Given the description of an element on the screen output the (x, y) to click on. 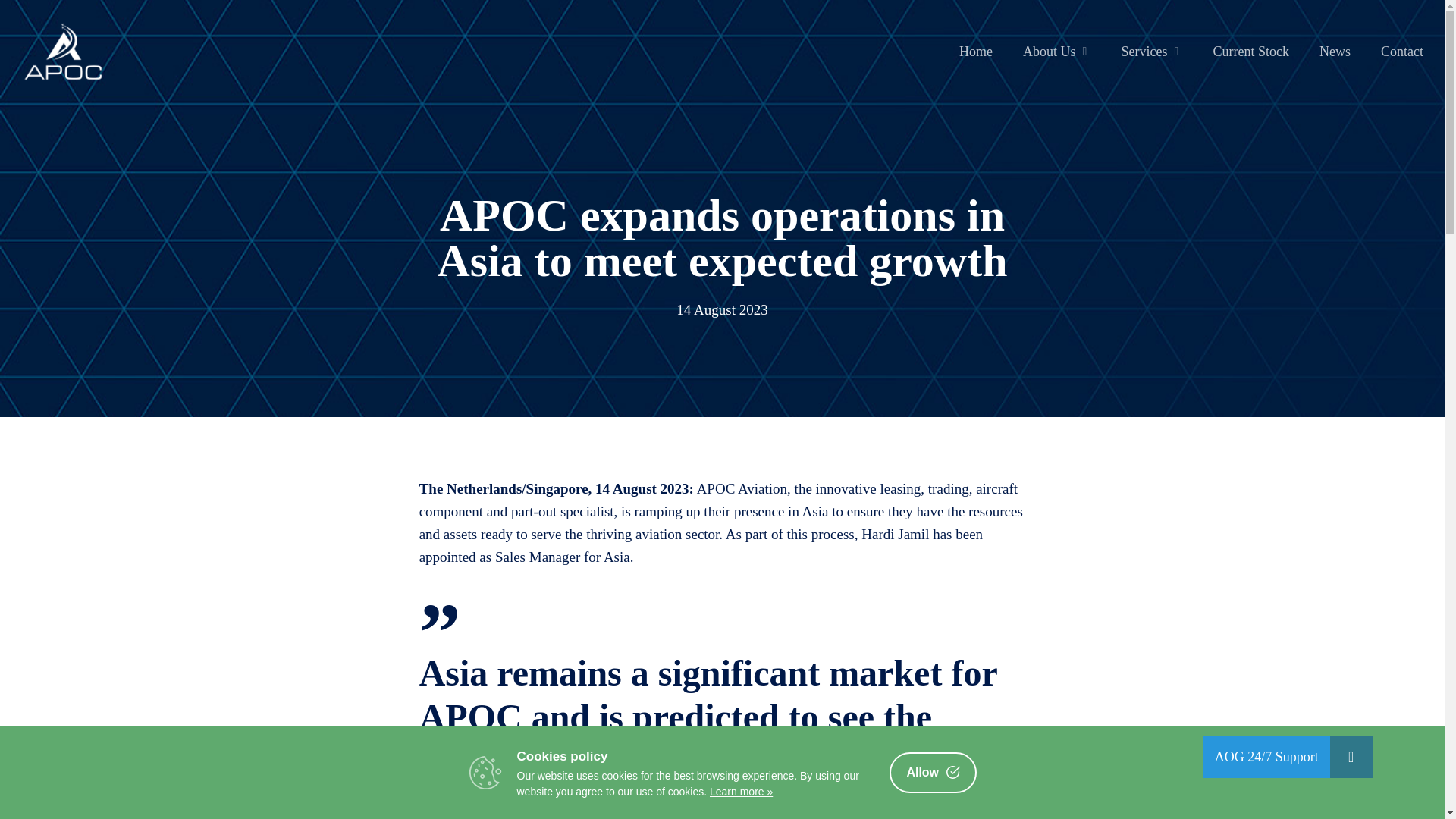
Current Stock (1251, 51)
APOC Aviation (742, 488)
Home (975, 51)
News (1335, 51)
About Us (1056, 51)
Contact (1401, 51)
Services (1151, 51)
